Given the description of an element on the screen output the (x, y) to click on. 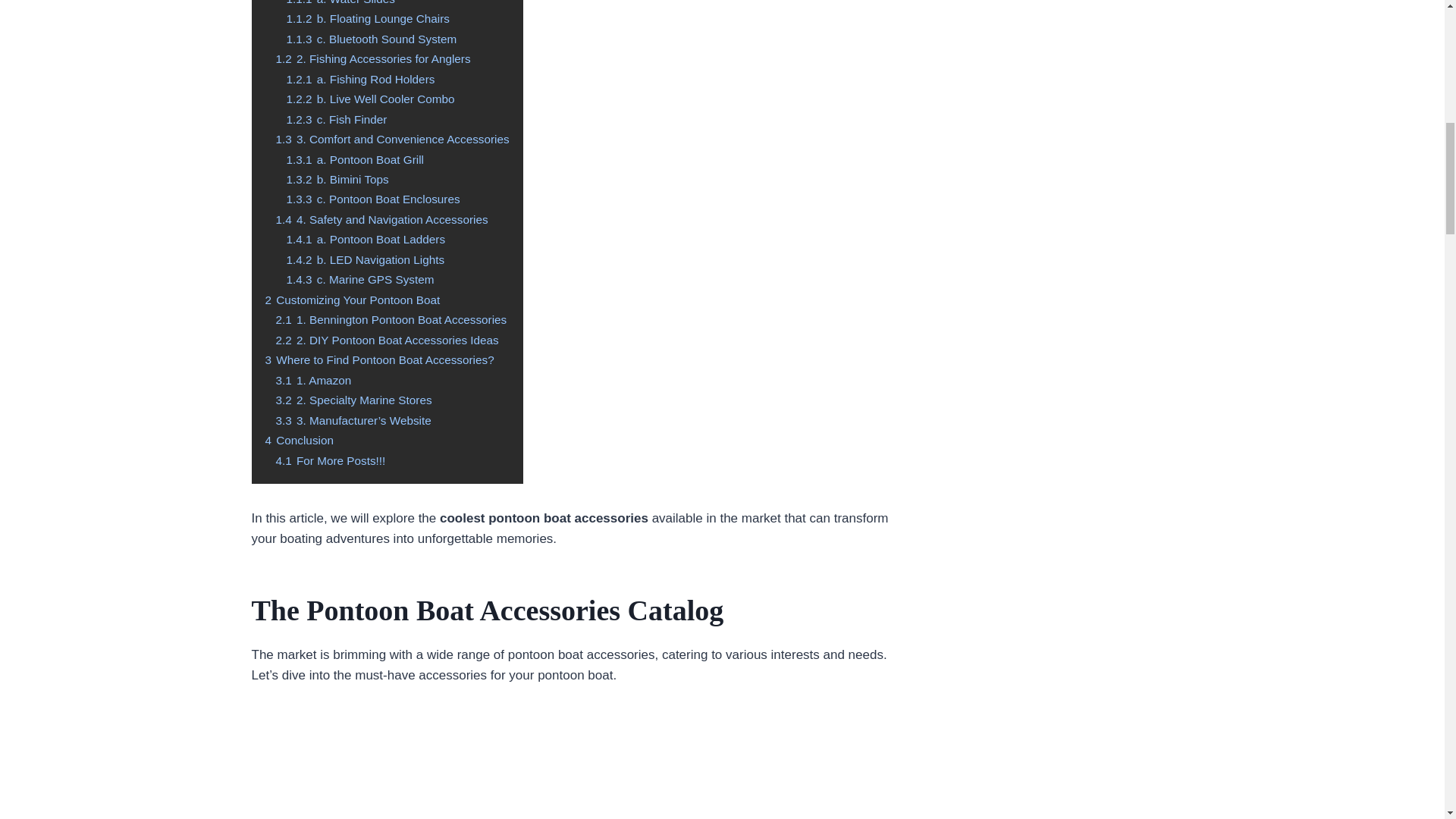
1.2.3 c. Fish Finder (336, 119)
2.1 1. Bennington Pontoon Boat Accessories (391, 318)
2 Customizing Your Pontoon Boat (352, 299)
2.2 2. DIY Pontoon Boat Accessories Ideas (387, 339)
1.3.2 b. Bimini Tops (337, 178)
1.3.3 c. Pontoon Boat Enclosures (373, 198)
1.4.2 b. LED Navigation Lights (365, 259)
1.2.1 a. Fishing Rod Holders (360, 78)
1.3 3. Comfort and Convenience Accessories (392, 138)
1.3.1 a. Pontoon Boat Grill (354, 159)
